Given the description of an element on the screen output the (x, y) to click on. 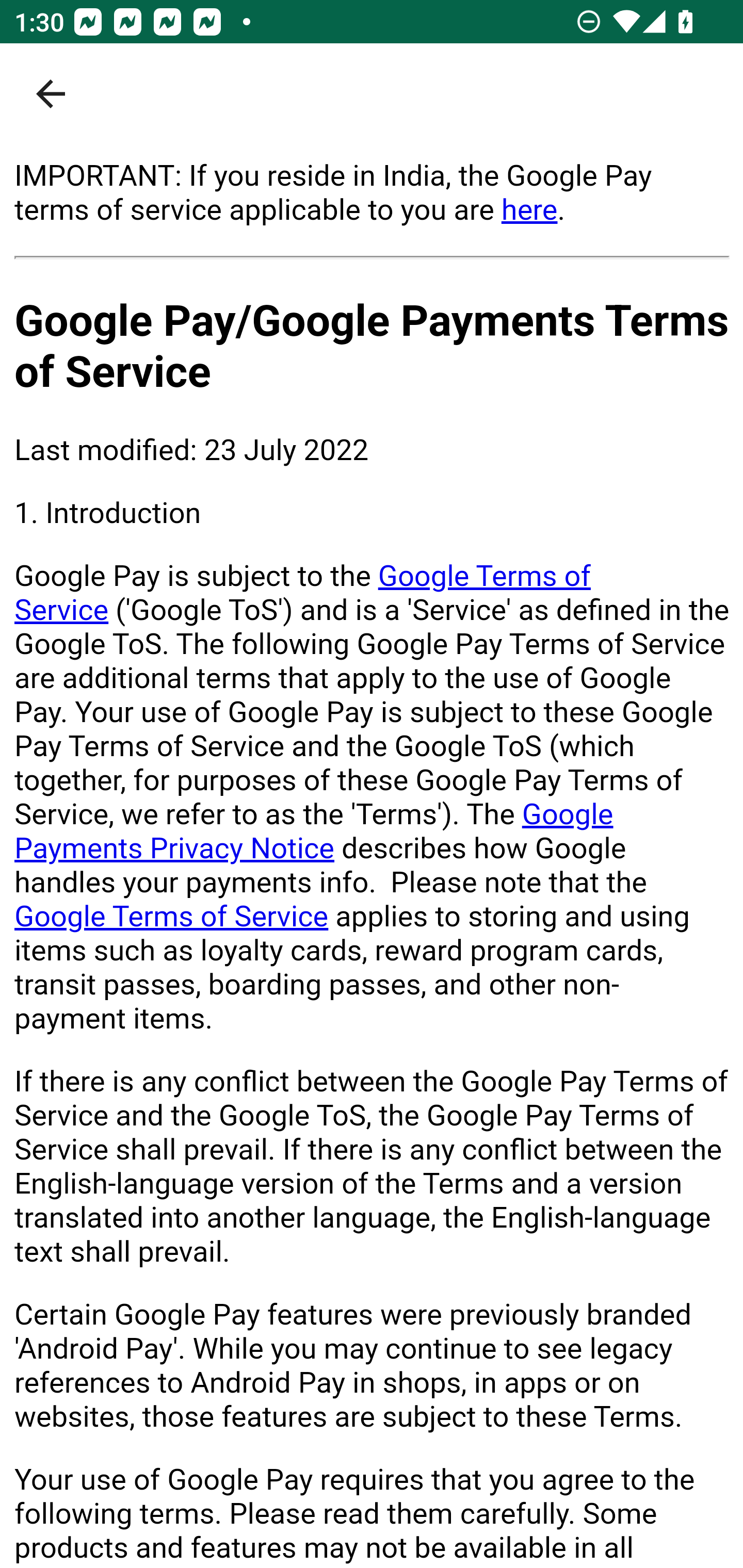
Navigate up (50, 93)
here (528, 209)
Google Terms of Service (303, 593)
Google Payments Privacy Notice (313, 831)
Google Terms of Service (171, 916)
